Given the description of an element on the screen output the (x, y) to click on. 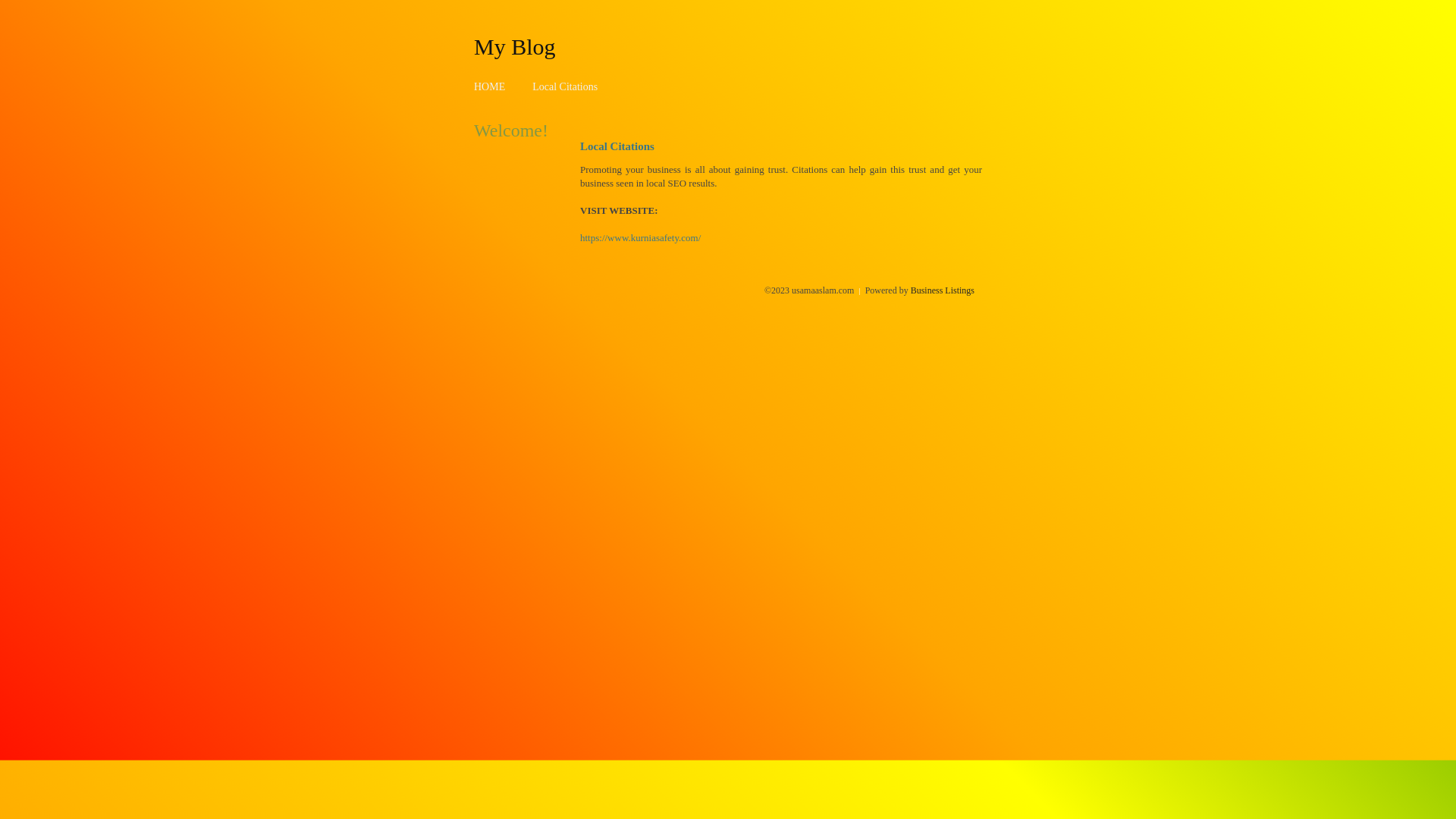
HOME Element type: text (489, 86)
https://www.kurniasafety.com/ Element type: text (640, 237)
My Blog Element type: text (514, 46)
Business Listings Element type: text (942, 290)
Local Citations Element type: text (564, 86)
